Given the description of an element on the screen output the (x, y) to click on. 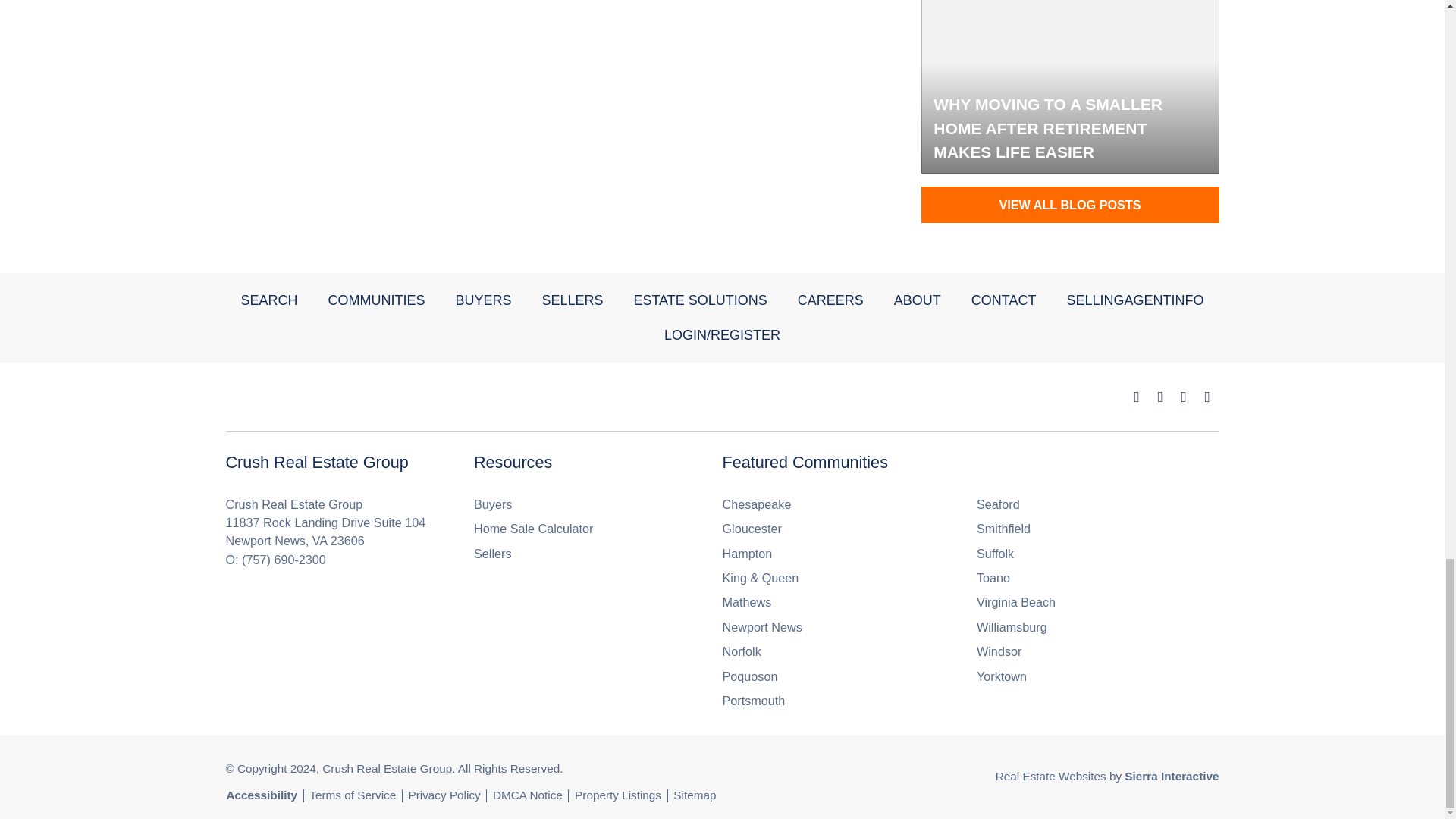
Home Page (335, 396)
View Home Sale Calculator (533, 528)
View Buyers (493, 504)
